Given the description of an element on the screen output the (x, y) to click on. 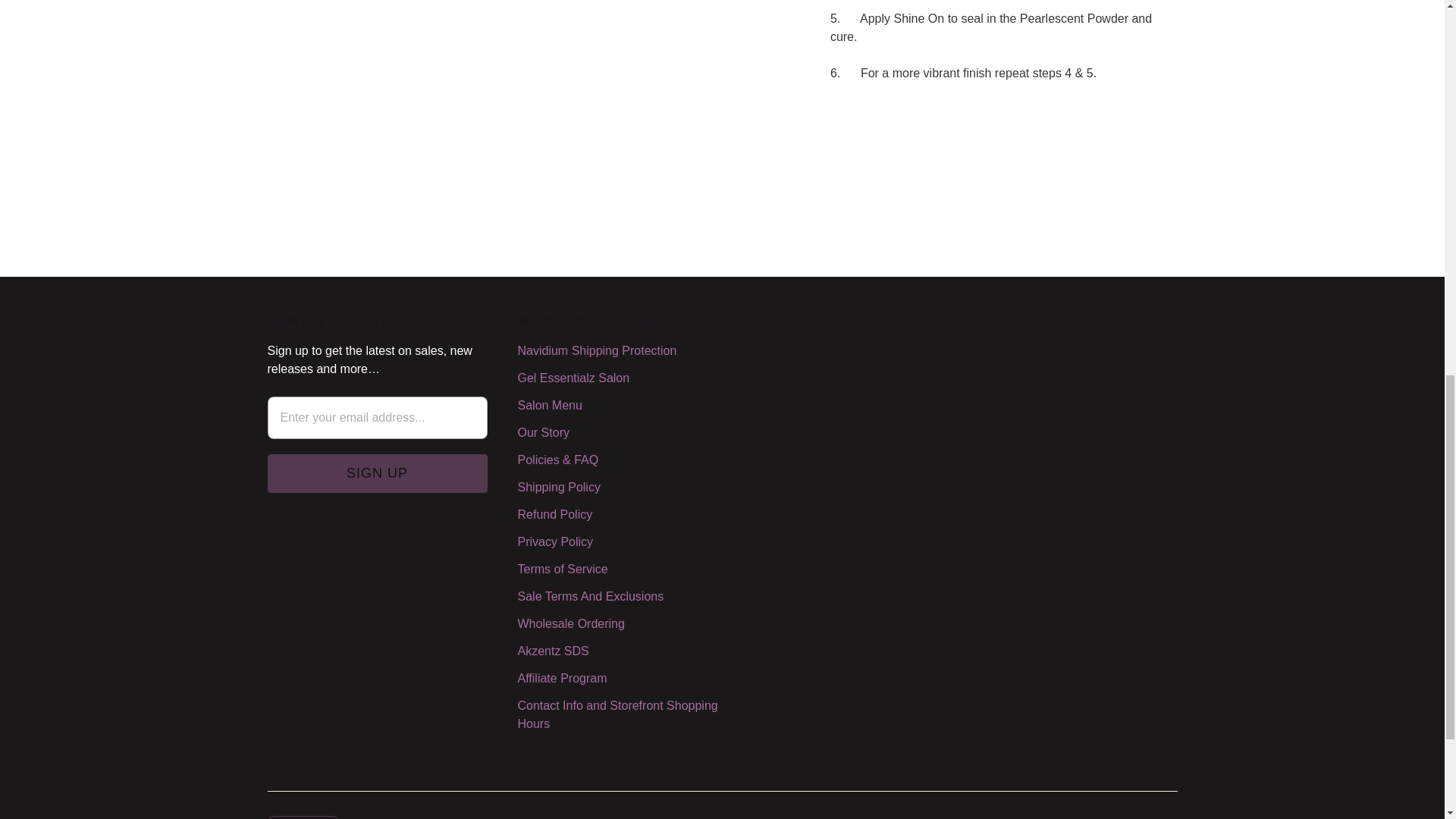
Sign Up (376, 473)
